Given the description of an element on the screen output the (x, y) to click on. 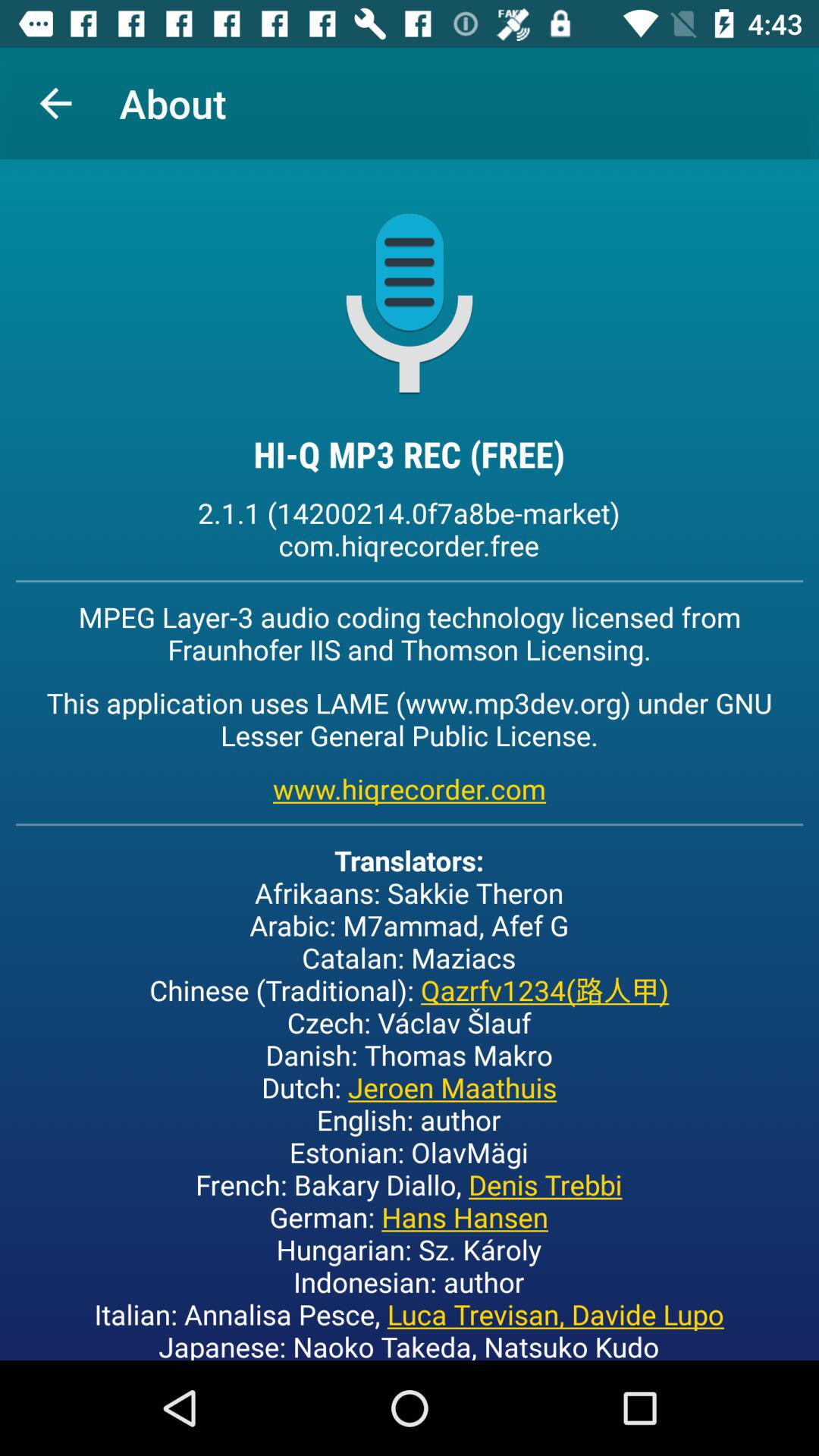
select item next to about item (55, 103)
